Given the description of an element on the screen output the (x, y) to click on. 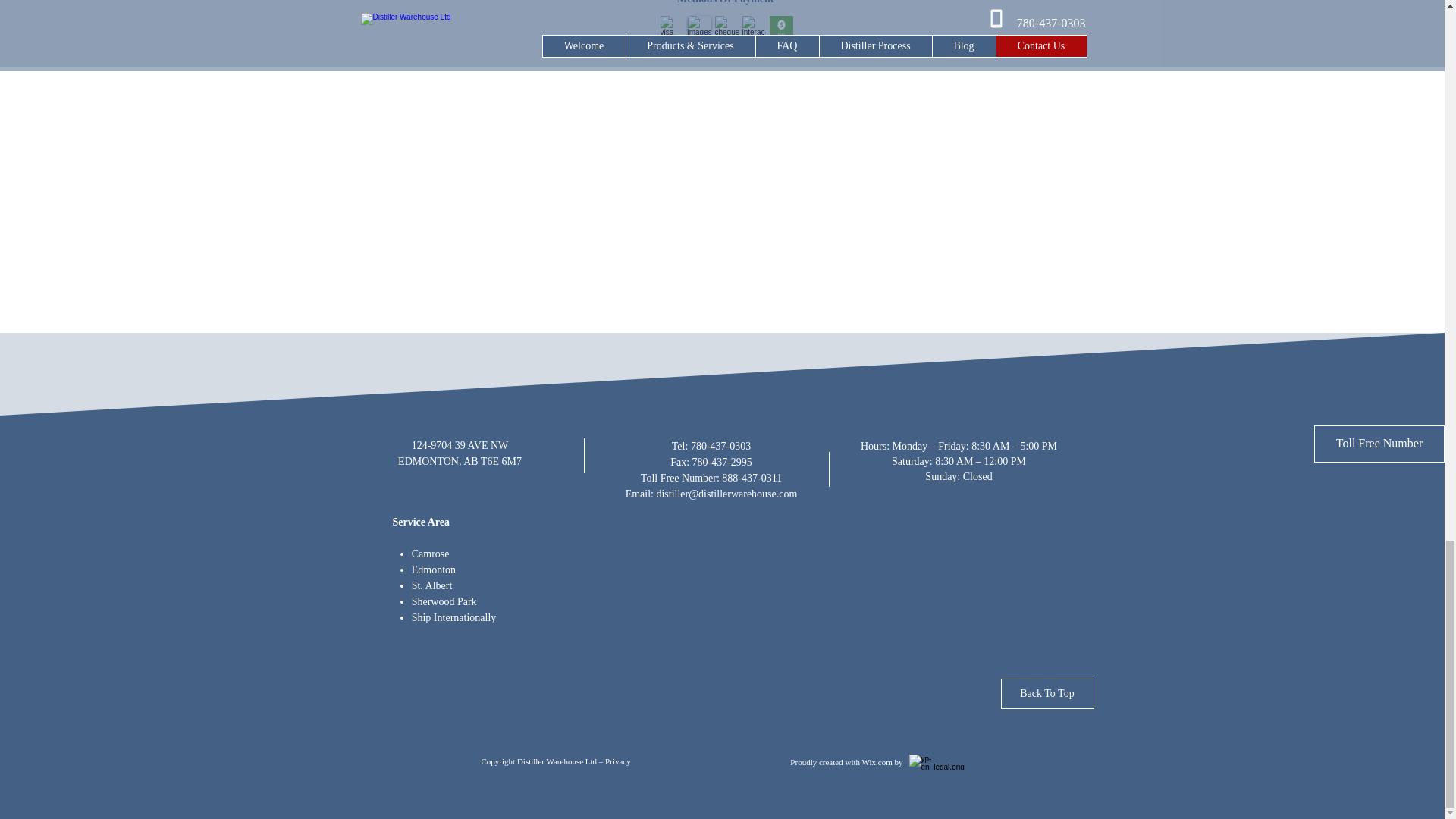
780-437-0303 (720, 446)
888-437-0311 (751, 478)
780-437-2995 (722, 461)
Back To Top (1047, 693)
Distiller Warehouse Ltd  (557, 760)
Privacy (617, 760)
